Given the description of an element on the screen output the (x, y) to click on. 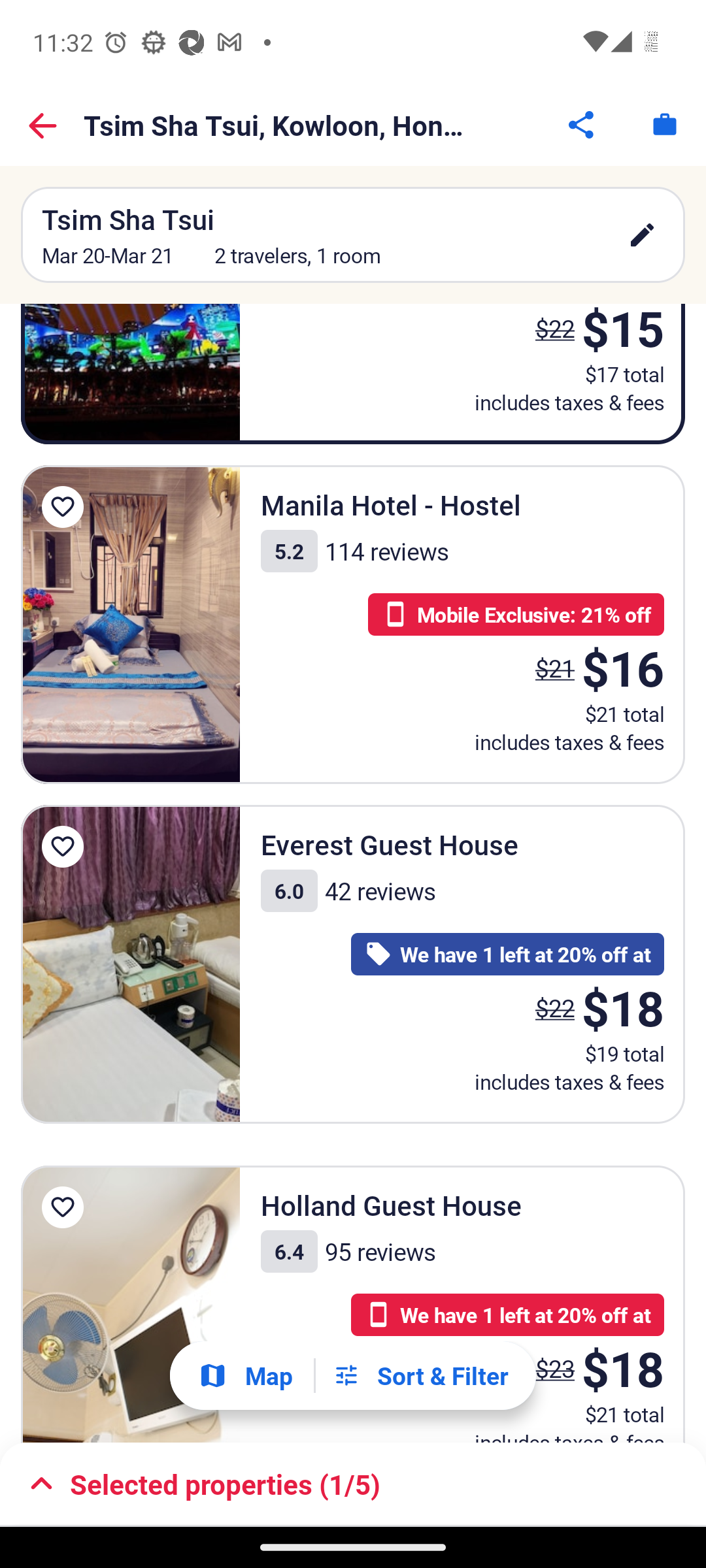
Share Button (582, 124)
Trips. Button (664, 124)
Everest Hostel (130, 373)
$22 The price was $22 (548, 337)
Manila Hotel - Hostel (130, 624)
Save Manila Hotel - Hostel to a trip (62, 506)
$21 The price was $21 (554, 667)
Everest Guest House (130, 964)
Save Everest Guest House to a trip (62, 846)
$22 The price was $22 (554, 1007)
Holland Guest House (130, 1303)
Save Holland Guest House to a trip (62, 1207)
$23 The price was $23 (554, 1368)
Filters Sort & Filter Filters Button (420, 1374)
Show map Map Show map Button (244, 1375)
